Given the description of an element on the screen output the (x, y) to click on. 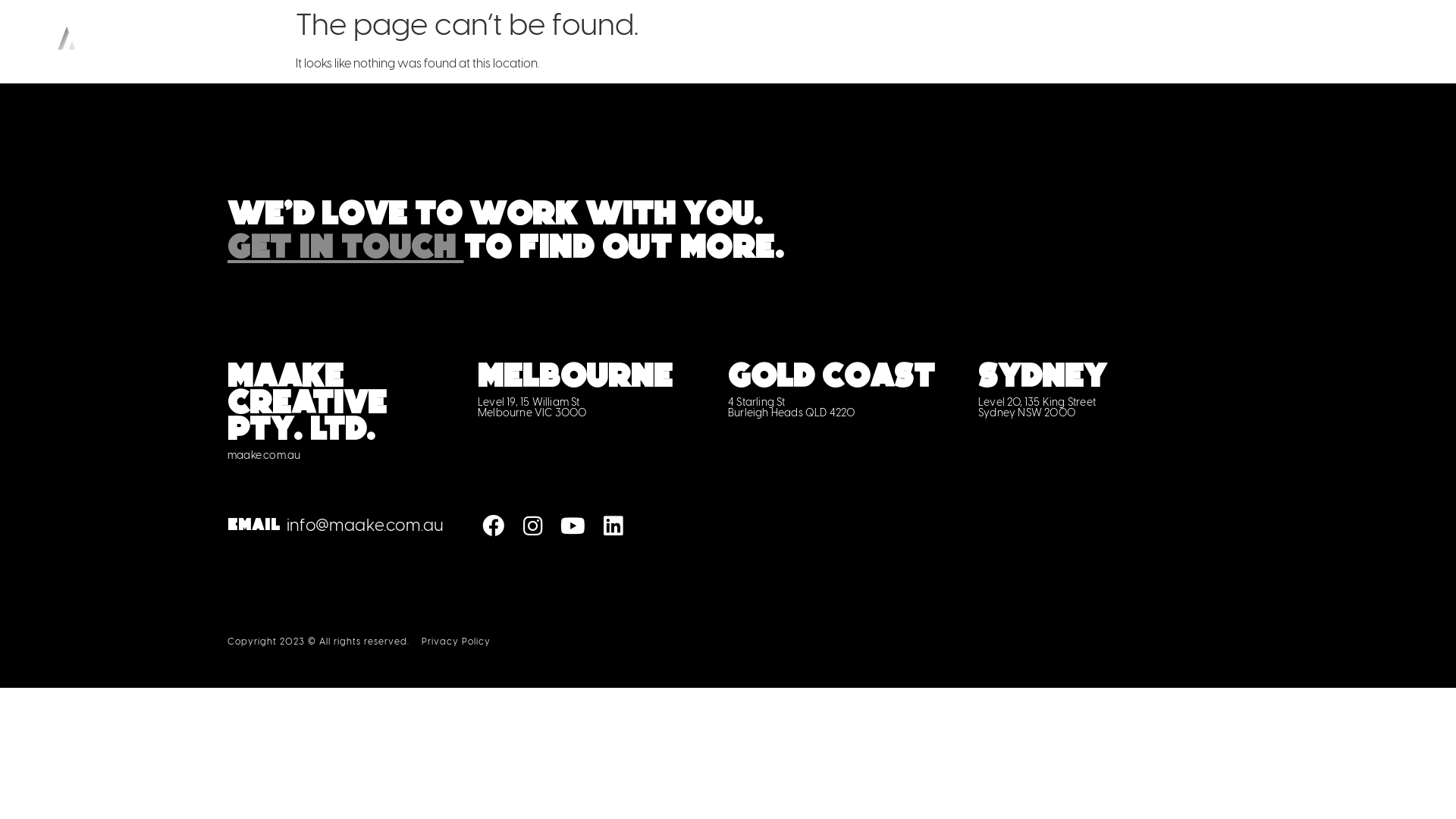
GET IN TOUCH TO FIND OUT MORE. Element type: text (505, 253)
Privacy Policy Element type: text (455, 641)
info@maake.com.au Element type: text (364, 524)
